Given the description of an element on the screen output the (x, y) to click on. 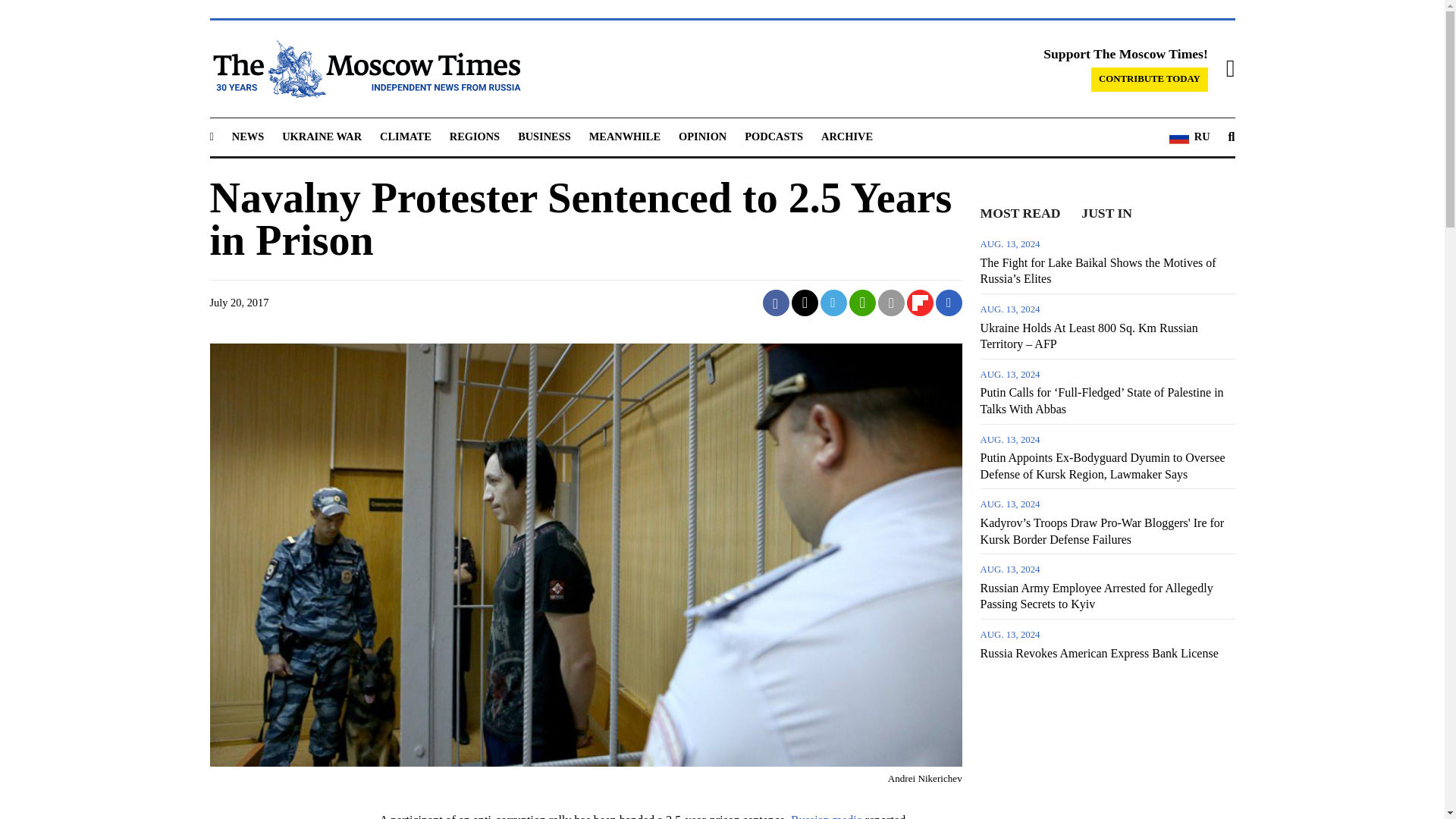
CONTRIBUTE TODAY (1149, 79)
RU (1189, 137)
ARCHIVE (846, 136)
BUSINESS (544, 136)
MEANWHILE (625, 136)
PODCASTS (773, 136)
UKRAINE WAR (321, 136)
NEWS (247, 136)
The Moscow Times - Independent News from Russia (364, 68)
OPINION (702, 136)
